Given the description of an element on the screen output the (x, y) to click on. 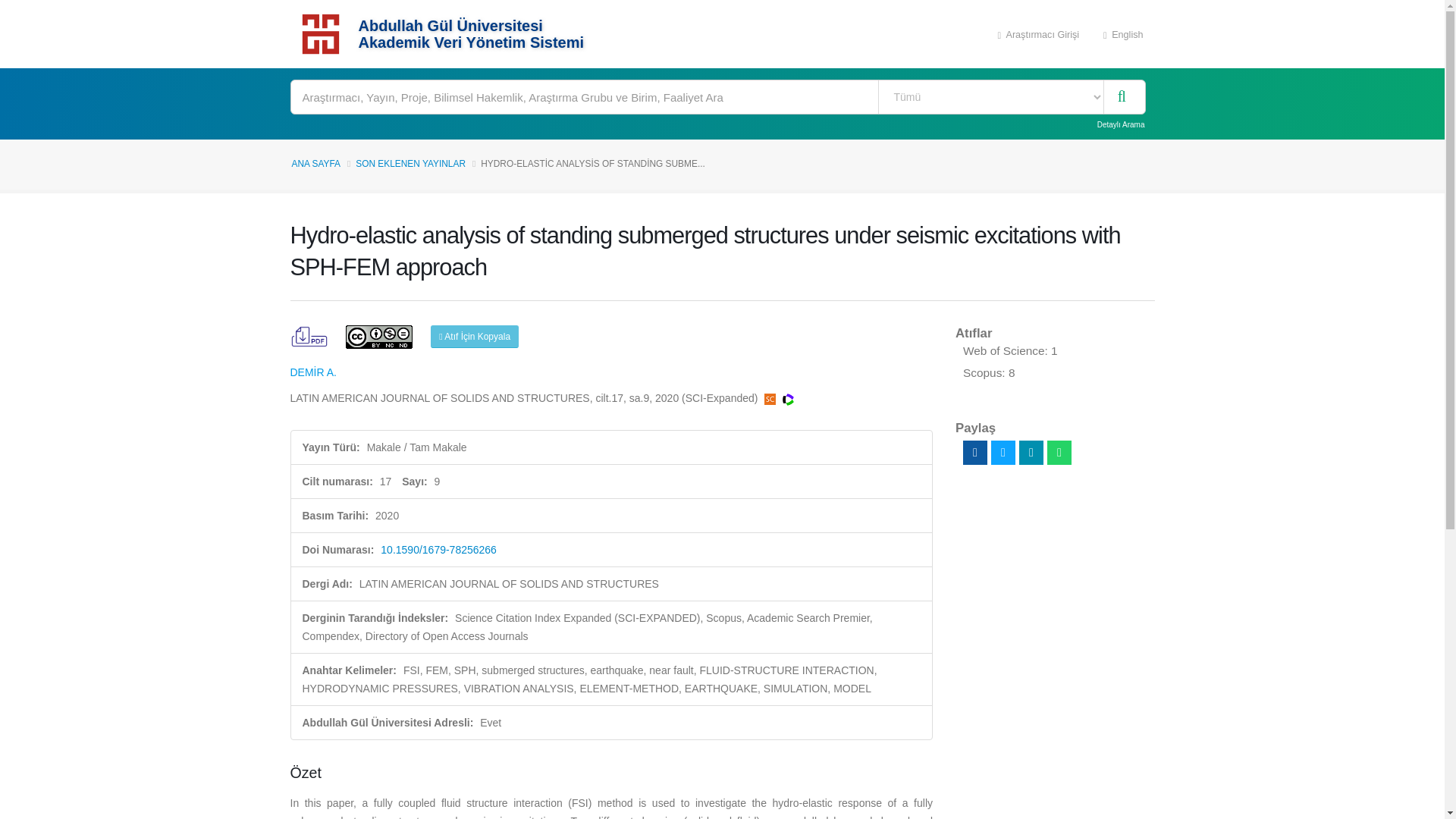
English (1123, 33)
SON EKLENEN YAYINLAR (410, 163)
ANA SAYFA (315, 163)
